Given the description of an element on the screen output the (x, y) to click on. 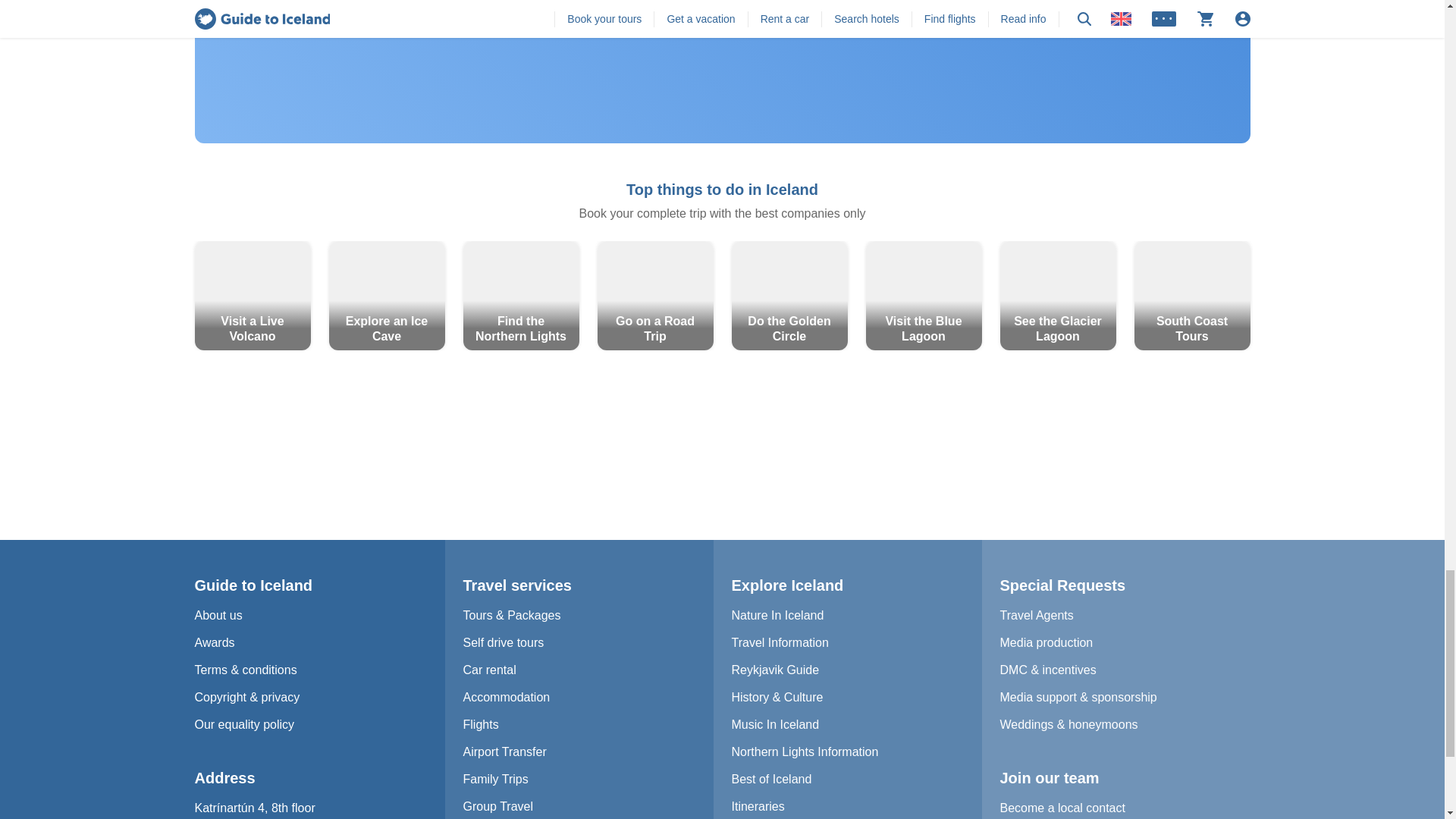
Visit a Live Volcano (251, 295)
Go on a Road Trip (655, 295)
Find the Northern Lights (520, 295)
Explore an Ice Cave (387, 295)
Visit the Blue Lagoon (924, 295)
Visit a Live Volcano (251, 295)
Go on a Road Trip (655, 295)
Explore an Ice Cave (387, 295)
Do the Golden Circle (789, 295)
See the Glacier Lagoon (1057, 295)
